Given the description of an element on the screen output the (x, y) to click on. 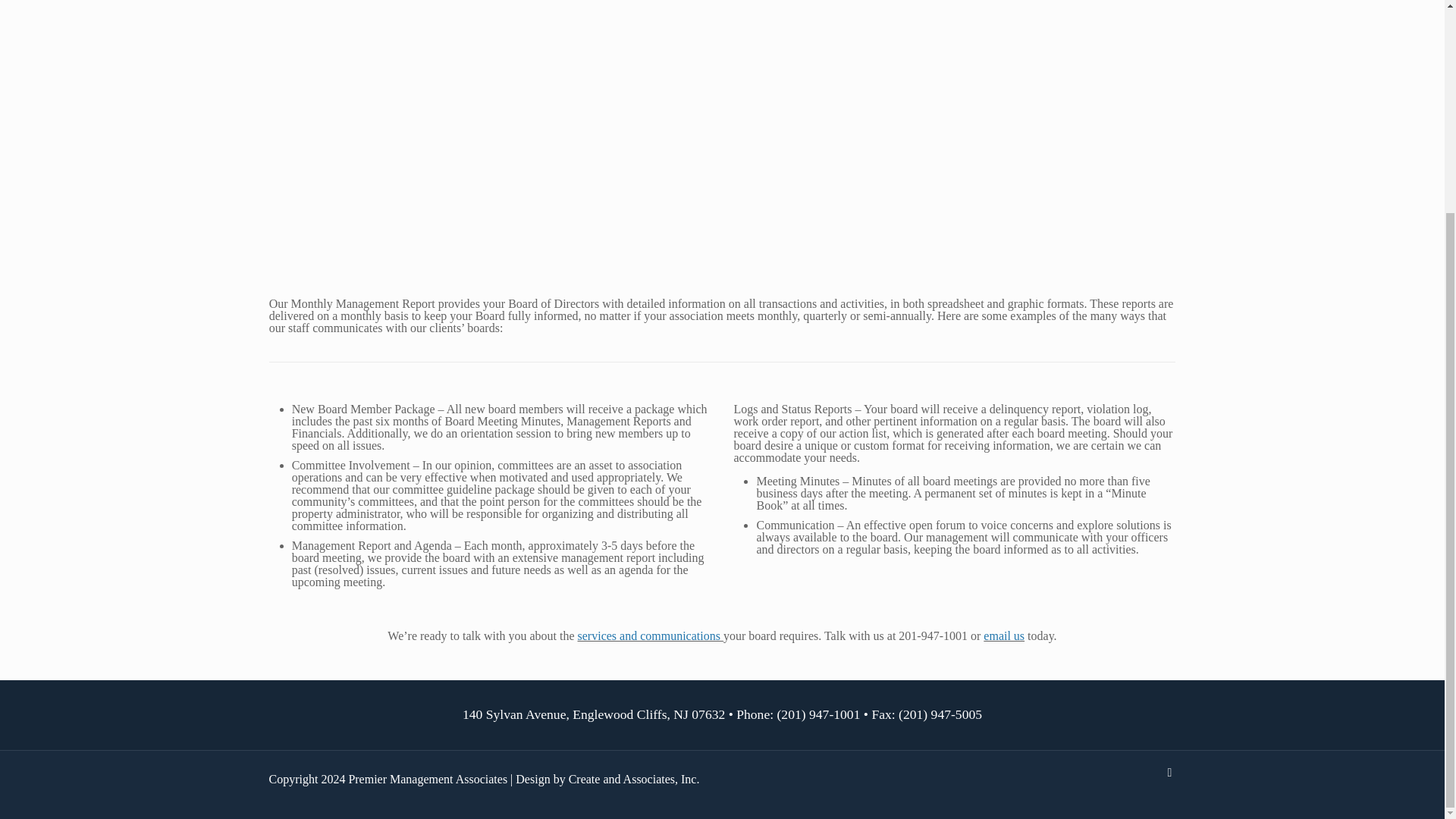
Resident Communications (650, 635)
email us (1004, 635)
Design by Create and Associates, Inc. (606, 779)
services and communications (650, 635)
